Given the description of an element on the screen output the (x, y) to click on. 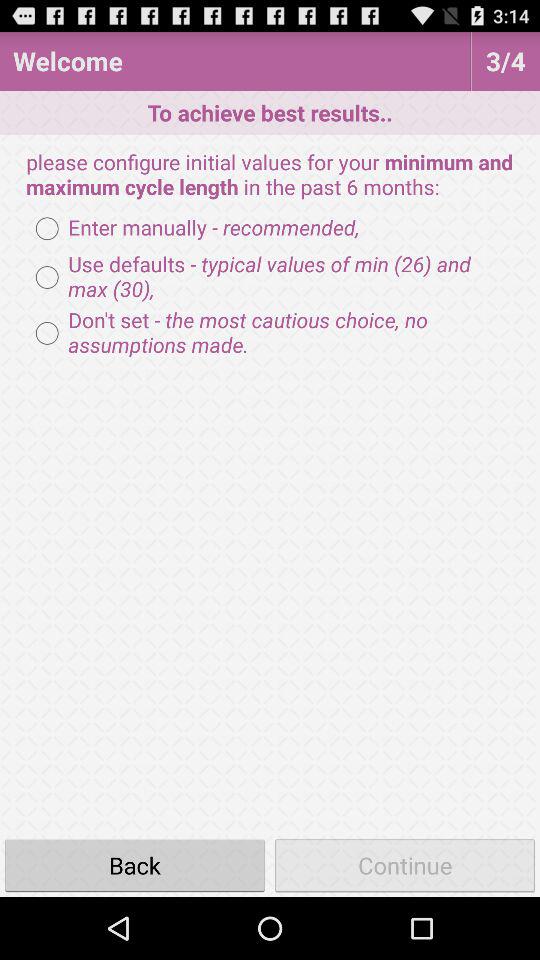
turn on radio button below enter manually - recommended, icon (269, 277)
